Given the description of an element on the screen output the (x, y) to click on. 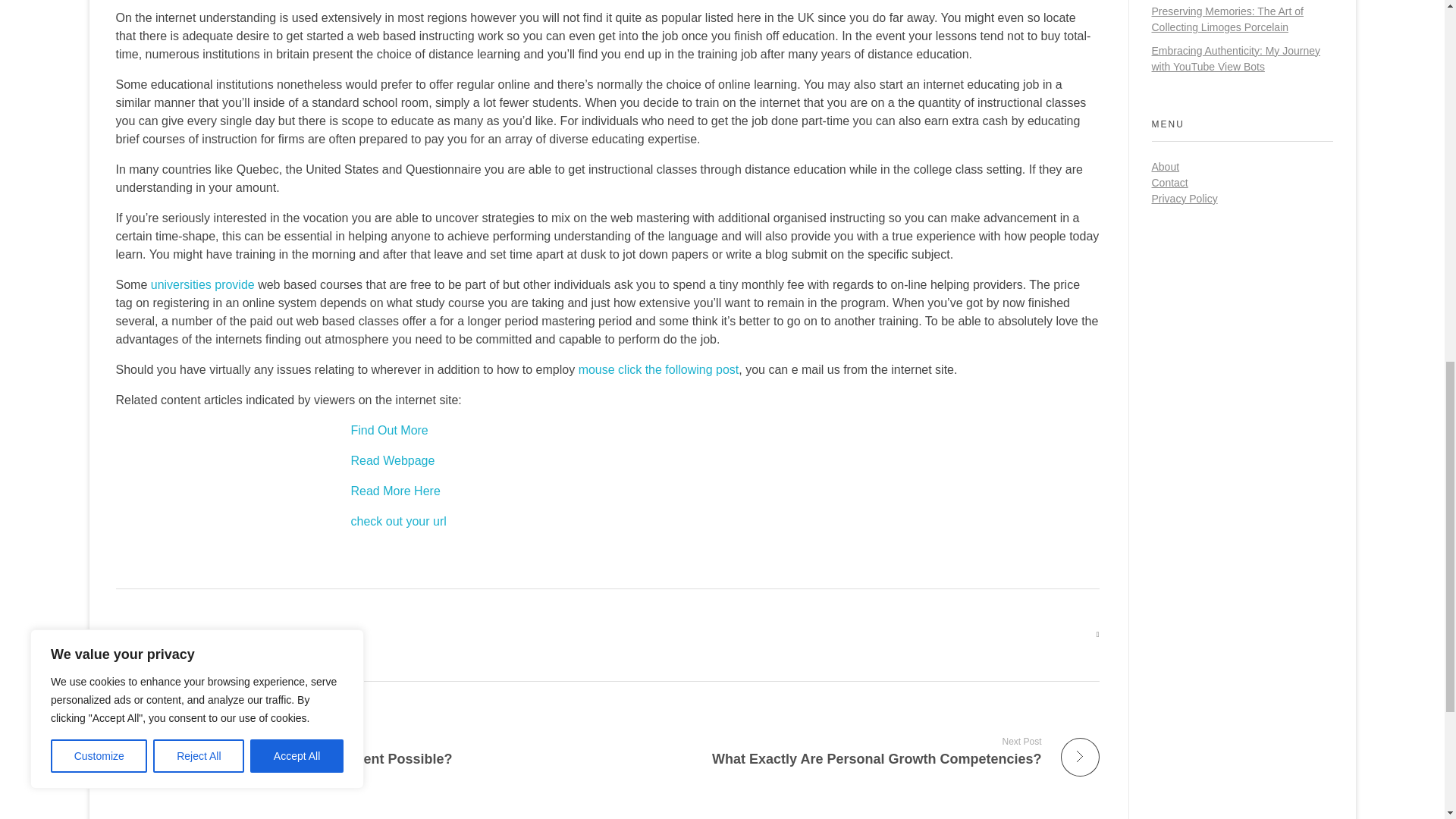
universities provide (202, 284)
Read More Here (394, 490)
check out your url (397, 521)
Read Webpage (355, 750)
mouse click the following post (391, 460)
Find Out More (658, 369)
